Given the description of an element on the screen output the (x, y) to click on. 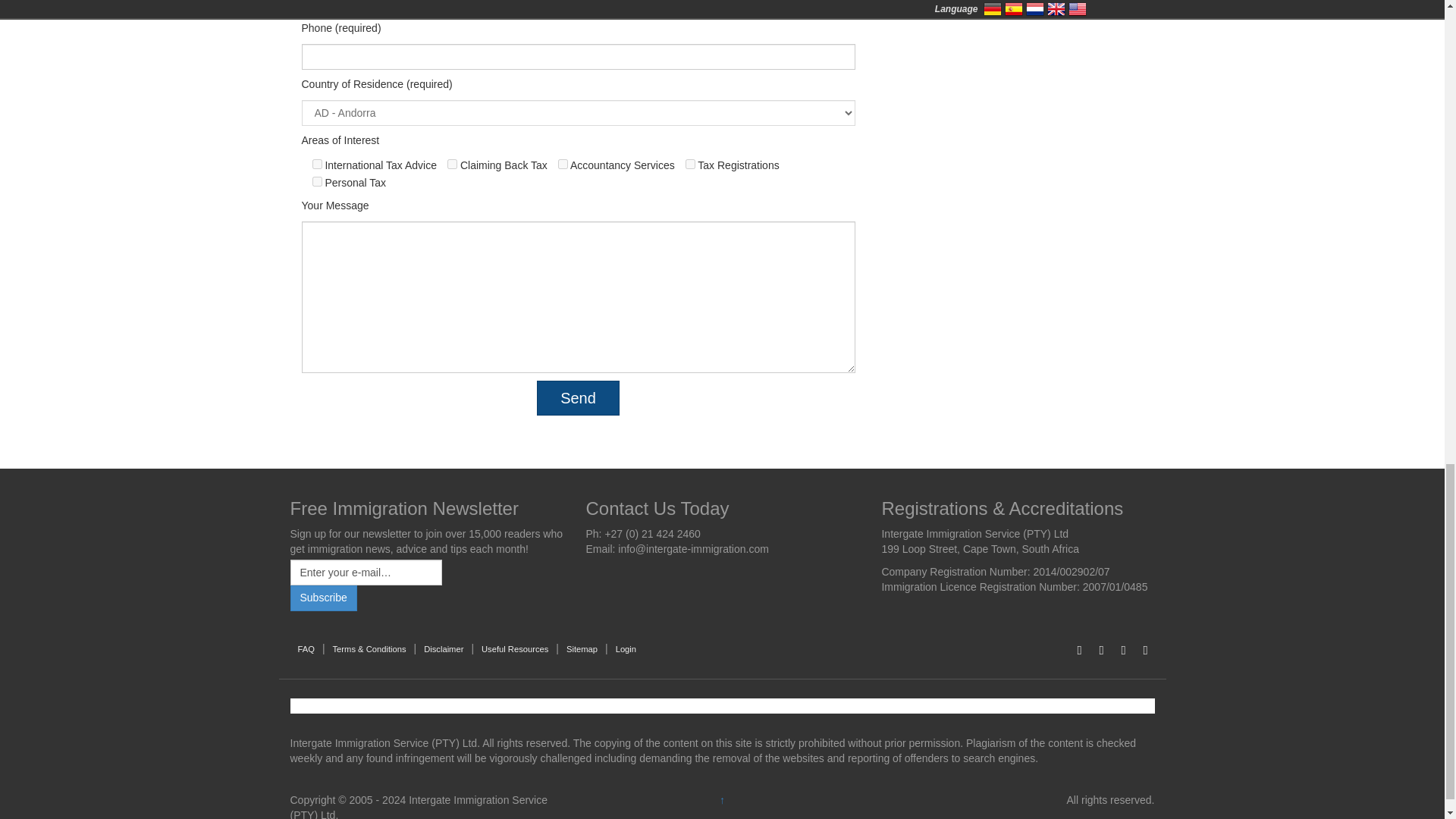
International Tax Advice (317, 163)
Claiming Back Tax (451, 163)
scroll to top (722, 799)
Accountancy Services (562, 163)
Send (578, 397)
Subscribe (322, 597)
Tax Registrations (690, 163)
Send (578, 397)
Personal Tax (317, 181)
